Given the description of an element on the screen output the (x, y) to click on. 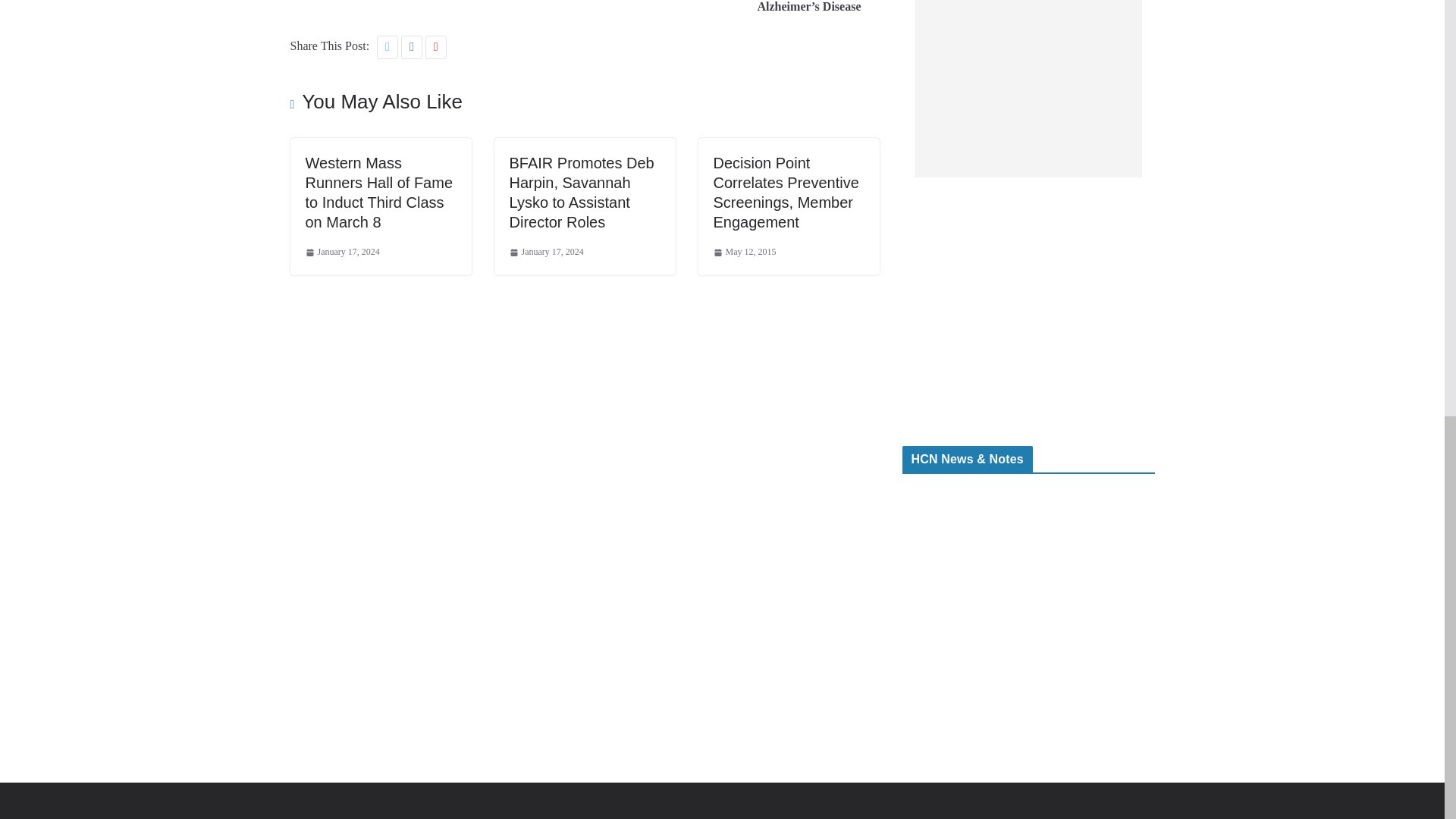
8:17 am (546, 252)
January 17, 2024 (341, 252)
8:16 am (341, 252)
